Given the description of an element on the screen output the (x, y) to click on. 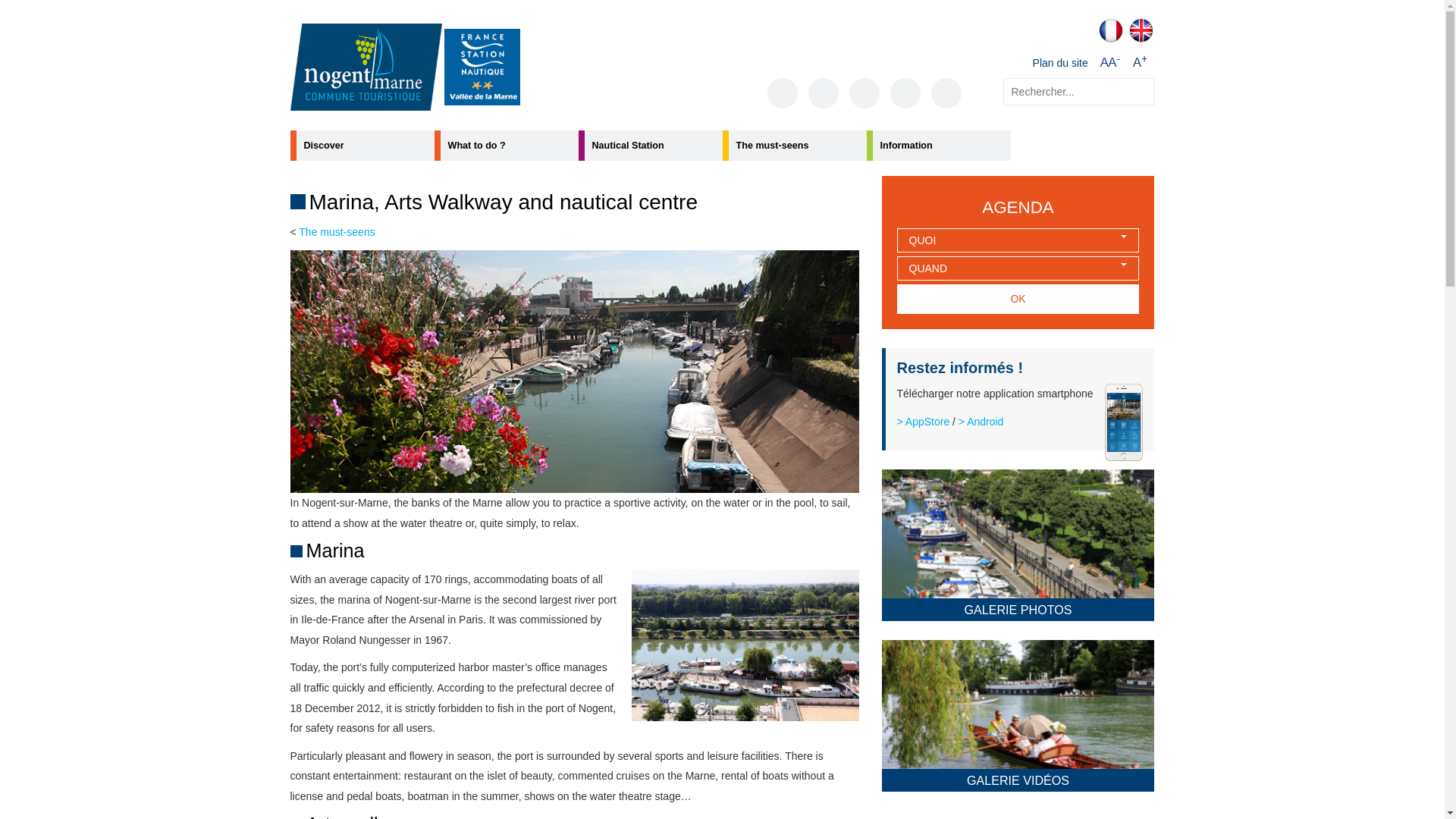
The must-seens (336, 232)
What to do ? (505, 145)
Nautical Station (650, 145)
Information (938, 145)
Plan du site (1059, 62)
Discover (361, 145)
Station nautique (481, 66)
The must-seens (794, 145)
